Given the description of an element on the screen output the (x, y) to click on. 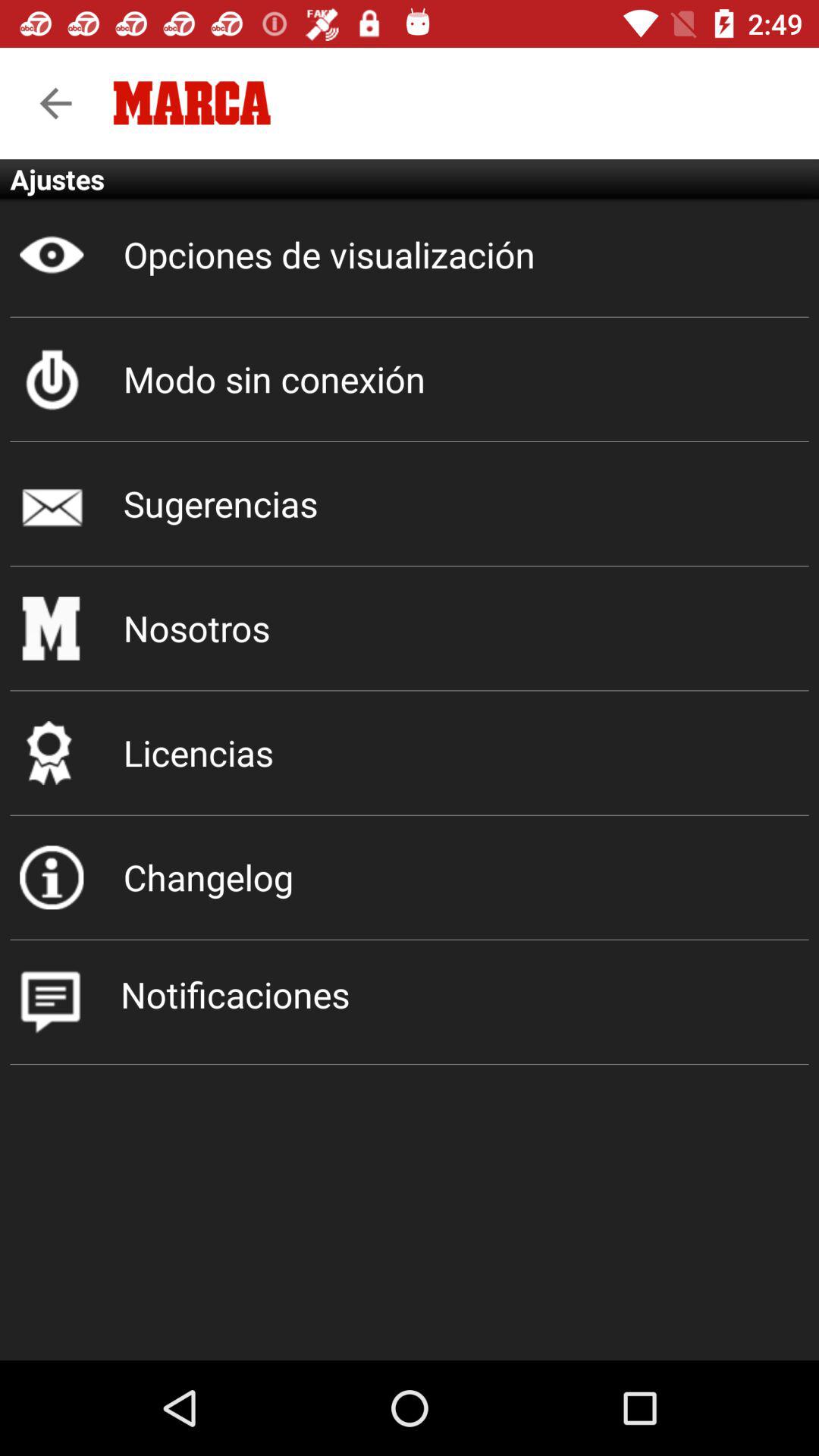
launch nosotros item (409, 628)
